Given the description of an element on the screen output the (x, y) to click on. 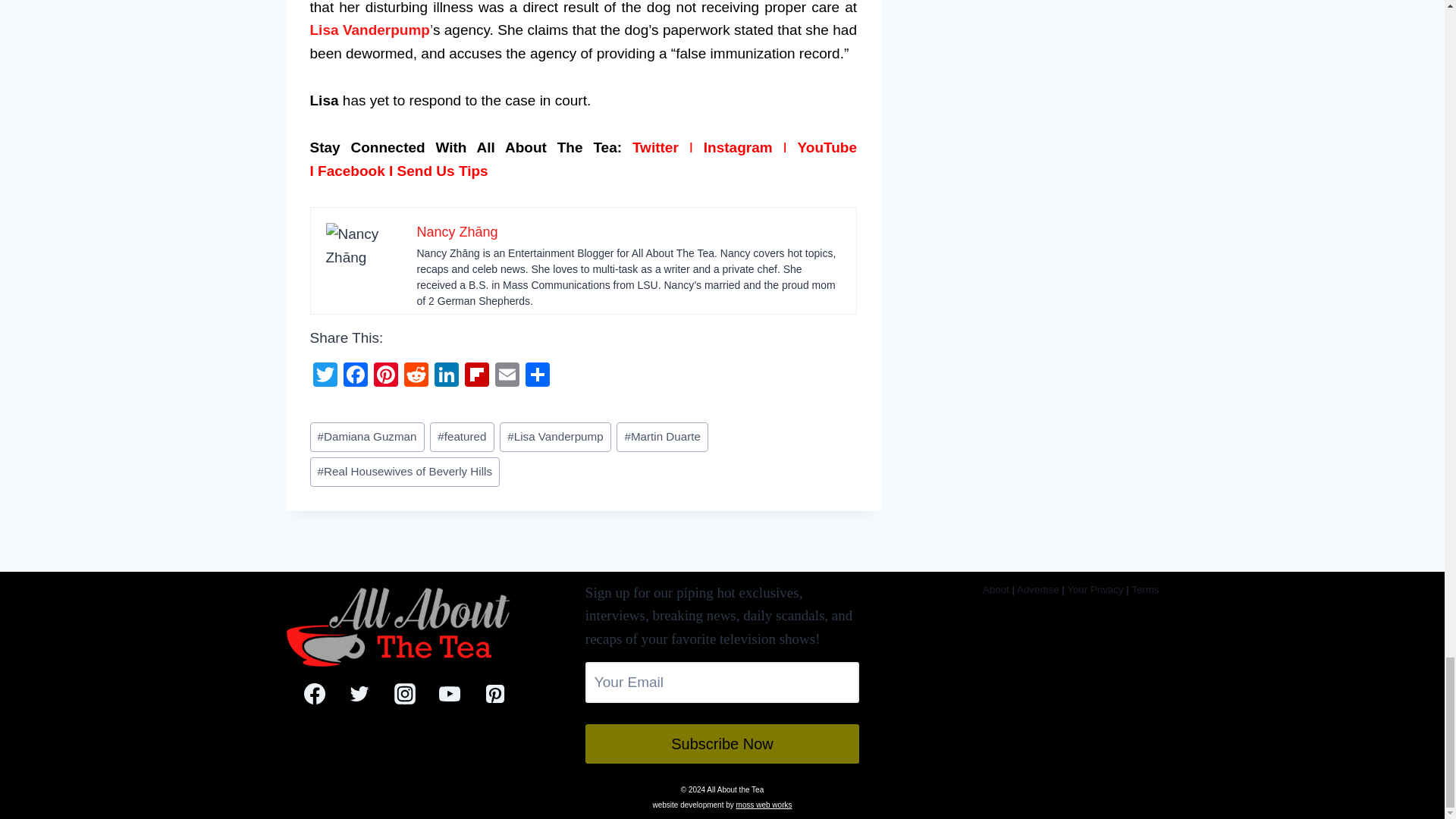
LinkedIn (445, 376)
Twitter (654, 147)
Lisa Vanderpump (368, 29)
Pinterest (384, 376)
Flipboard (476, 376)
Facebook (354, 376)
Twitter (323, 376)
Instagram (738, 147)
Reddit (415, 376)
